Given the description of an element on the screen output the (x, y) to click on. 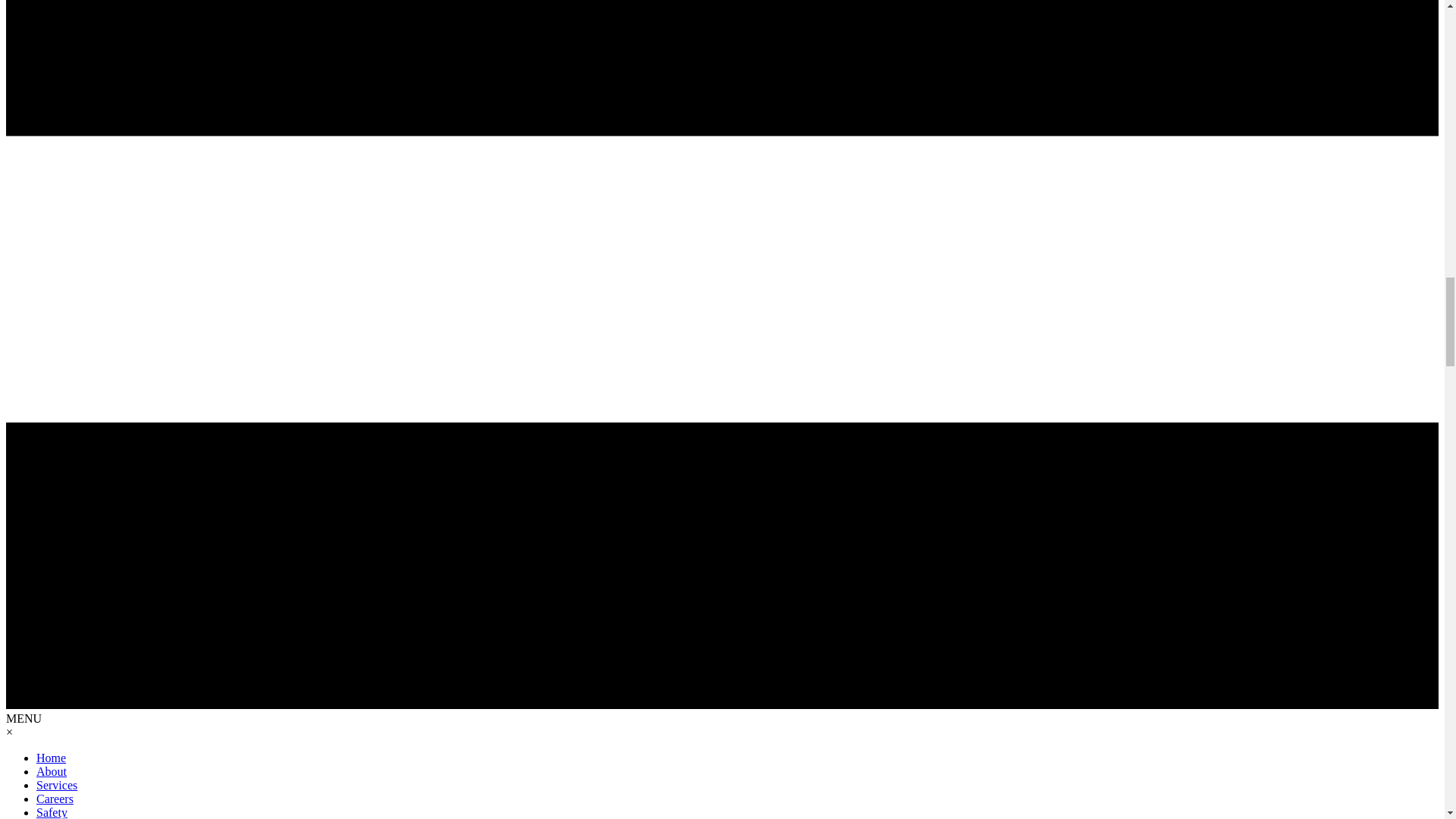
About (51, 771)
Services (56, 784)
Home (50, 757)
Safety (51, 812)
Careers (55, 798)
